Given the description of an element on the screen output the (x, y) to click on. 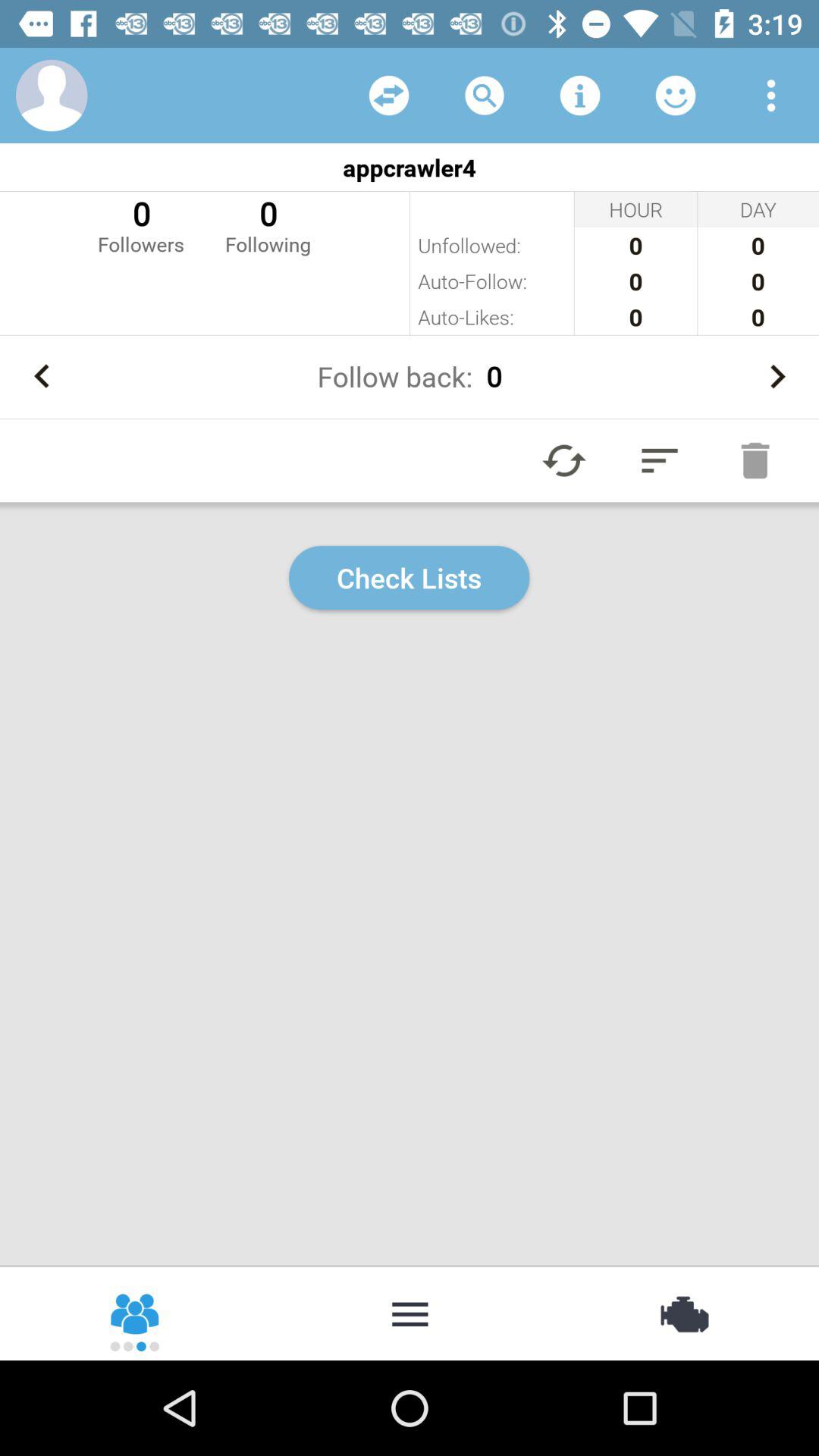
click to view menu (771, 95)
